Given the description of an element on the screen output the (x, y) to click on. 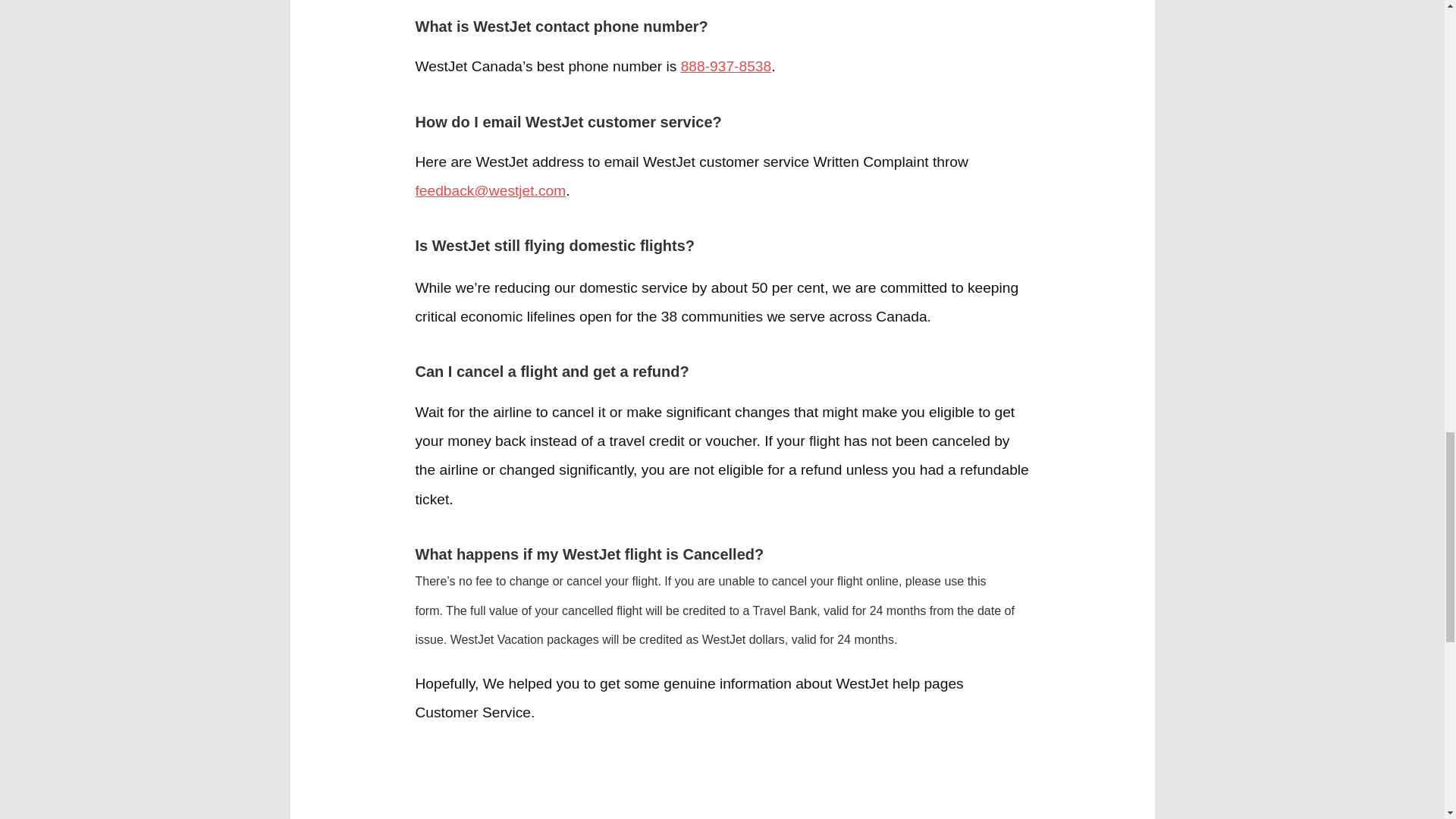
888-937-8538 (726, 66)
